Given the description of an element on the screen output the (x, y) to click on. 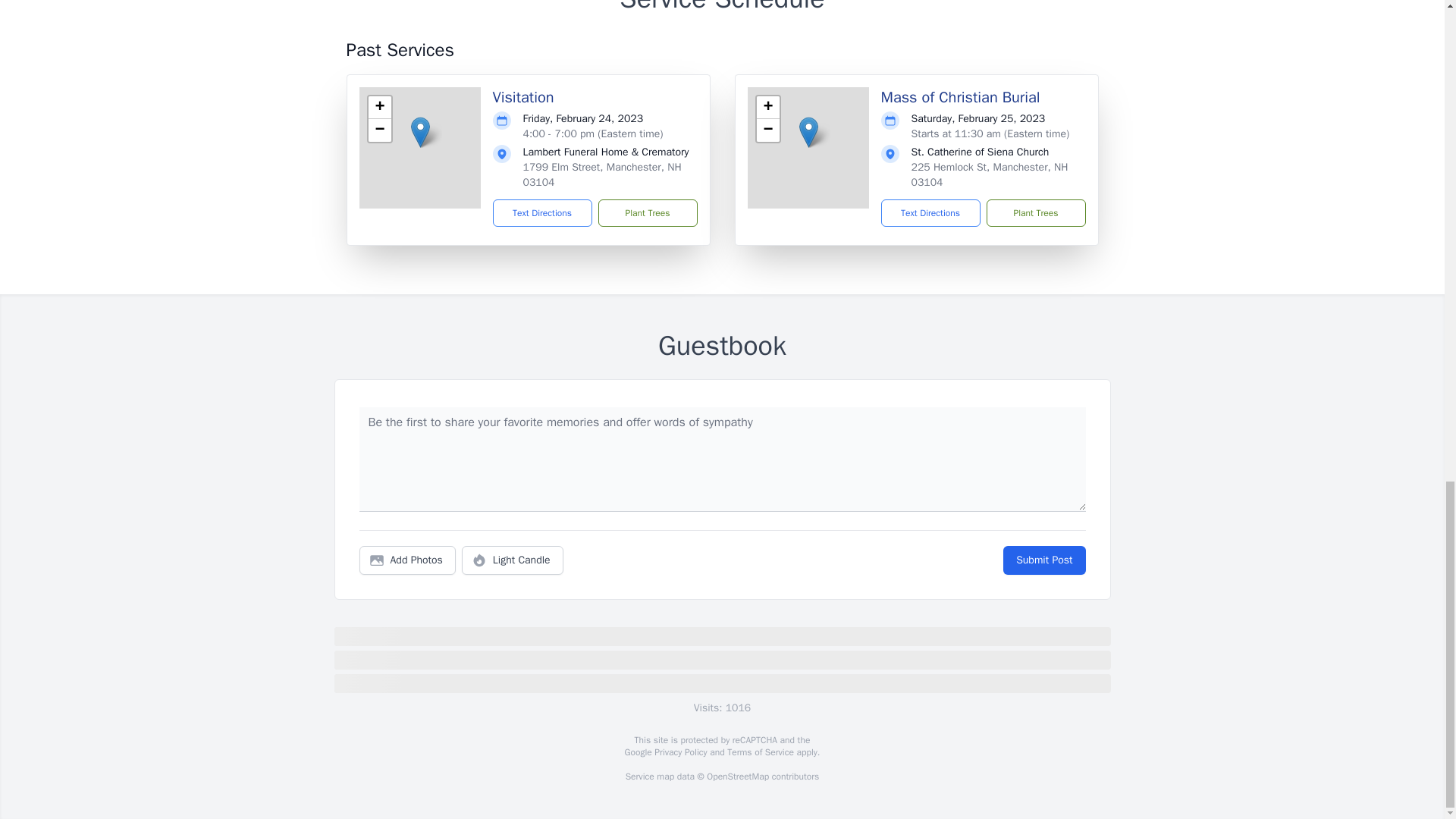
OpenStreetMap (737, 776)
Text Directions (929, 212)
Plant Trees (1034, 212)
1799 Elm Street, Manchester, NH 03104 (601, 174)
Zoom out (379, 129)
Text Directions (542, 212)
Privacy Policy (679, 752)
225 Hemlock St, Manchester, NH 03104 (989, 174)
Plant Trees (646, 212)
Terms of Service (759, 752)
Zoom in (379, 107)
Light Candle (512, 560)
Add Photos (407, 560)
Zoom out (767, 129)
Submit Post (1043, 560)
